Given the description of an element on the screen output the (x, y) to click on. 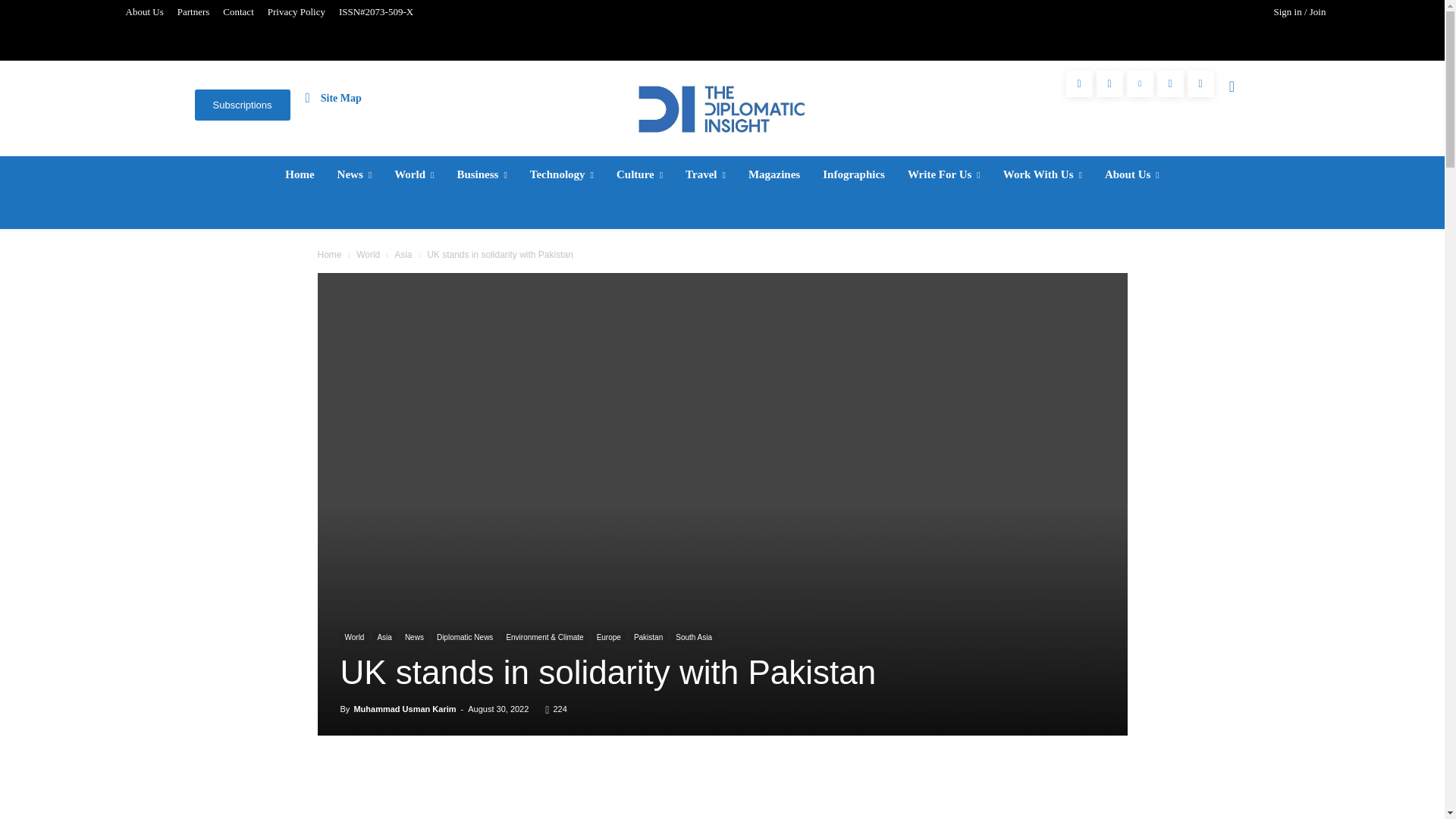
View all posts in World (368, 254)
Site Map (333, 97)
Instagram (1109, 82)
Linkedin (1139, 82)
Subscriptions (241, 104)
View all posts in Asia (403, 254)
Youtube (1201, 82)
Facebook (1079, 82)
Twitter (1170, 82)
